Given the description of an element on the screen output the (x, y) to click on. 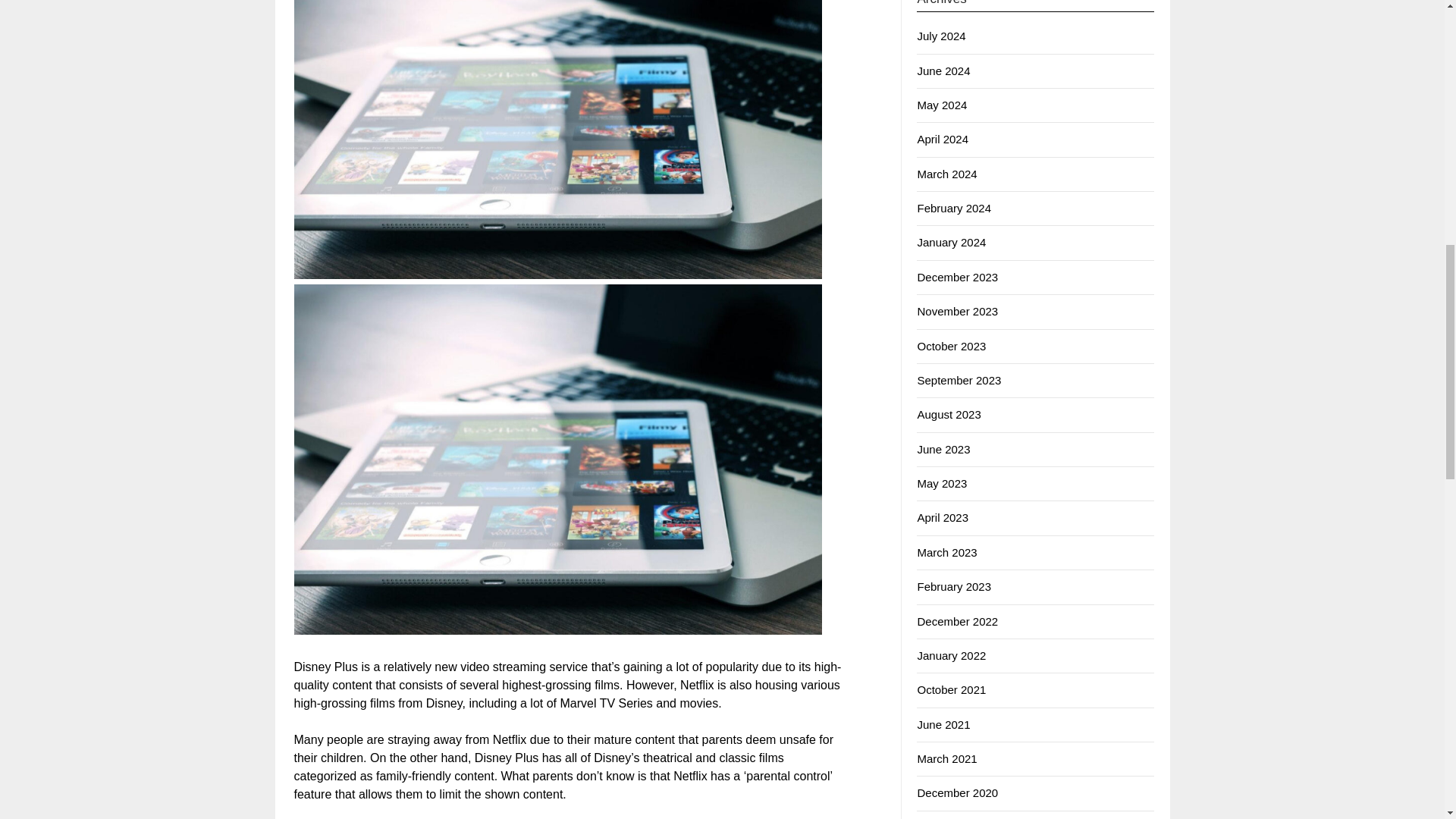
April 2024 (942, 138)
June 2024 (943, 70)
May 2024 (941, 104)
July 2024 (941, 35)
February 2024 (954, 207)
January 2024 (951, 241)
March 2024 (946, 173)
